Given the description of an element on the screen output the (x, y) to click on. 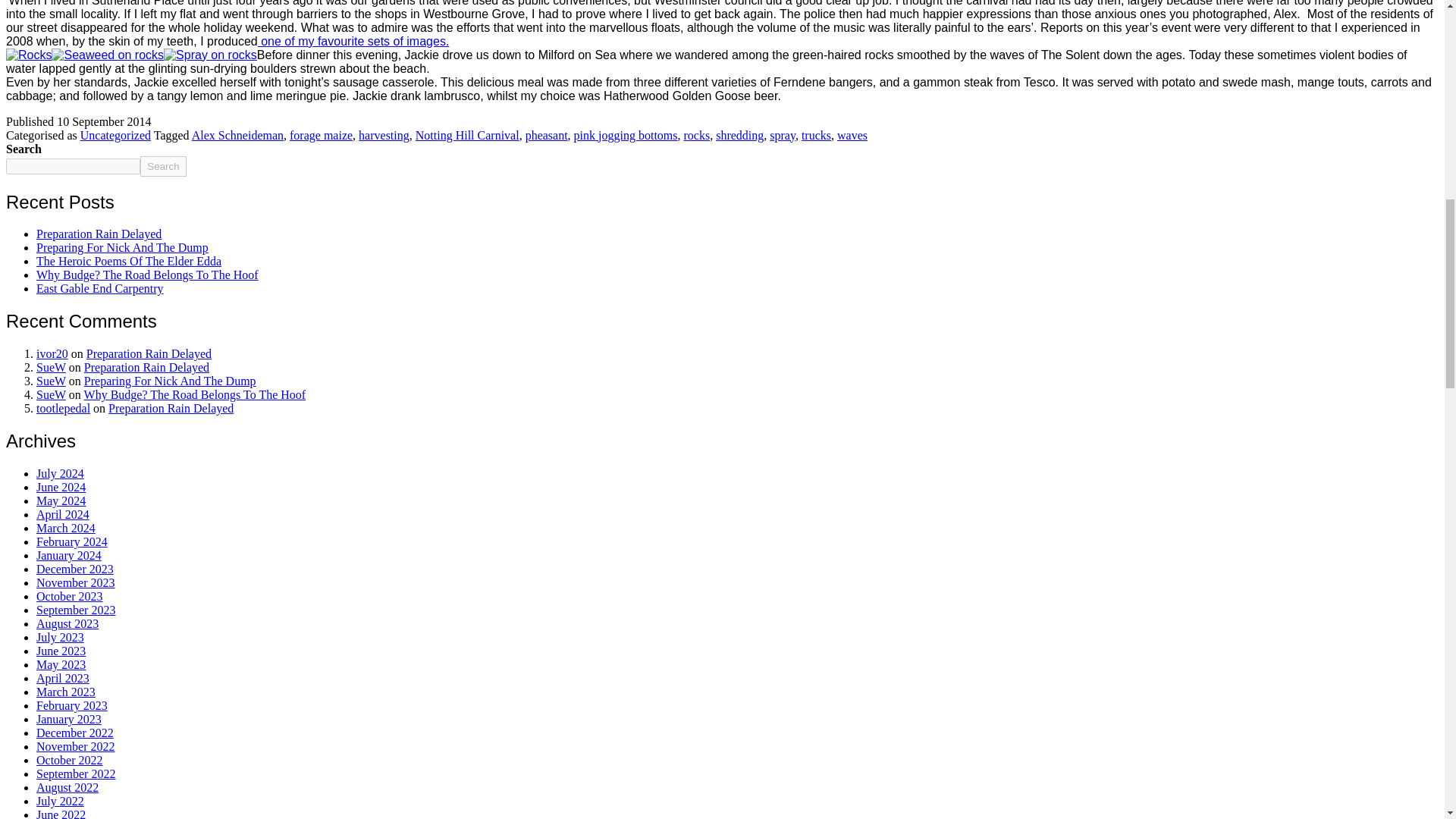
forage maize (320, 134)
 one of my favourite sets of images. (353, 41)
Notting Hill Carnival (466, 134)
pink jogging bottoms (625, 134)
Alex Schneideman (237, 134)
harvesting (383, 134)
Uncategorized (115, 134)
rocks (697, 134)
pheasant (546, 134)
